Given the description of an element on the screen output the (x, y) to click on. 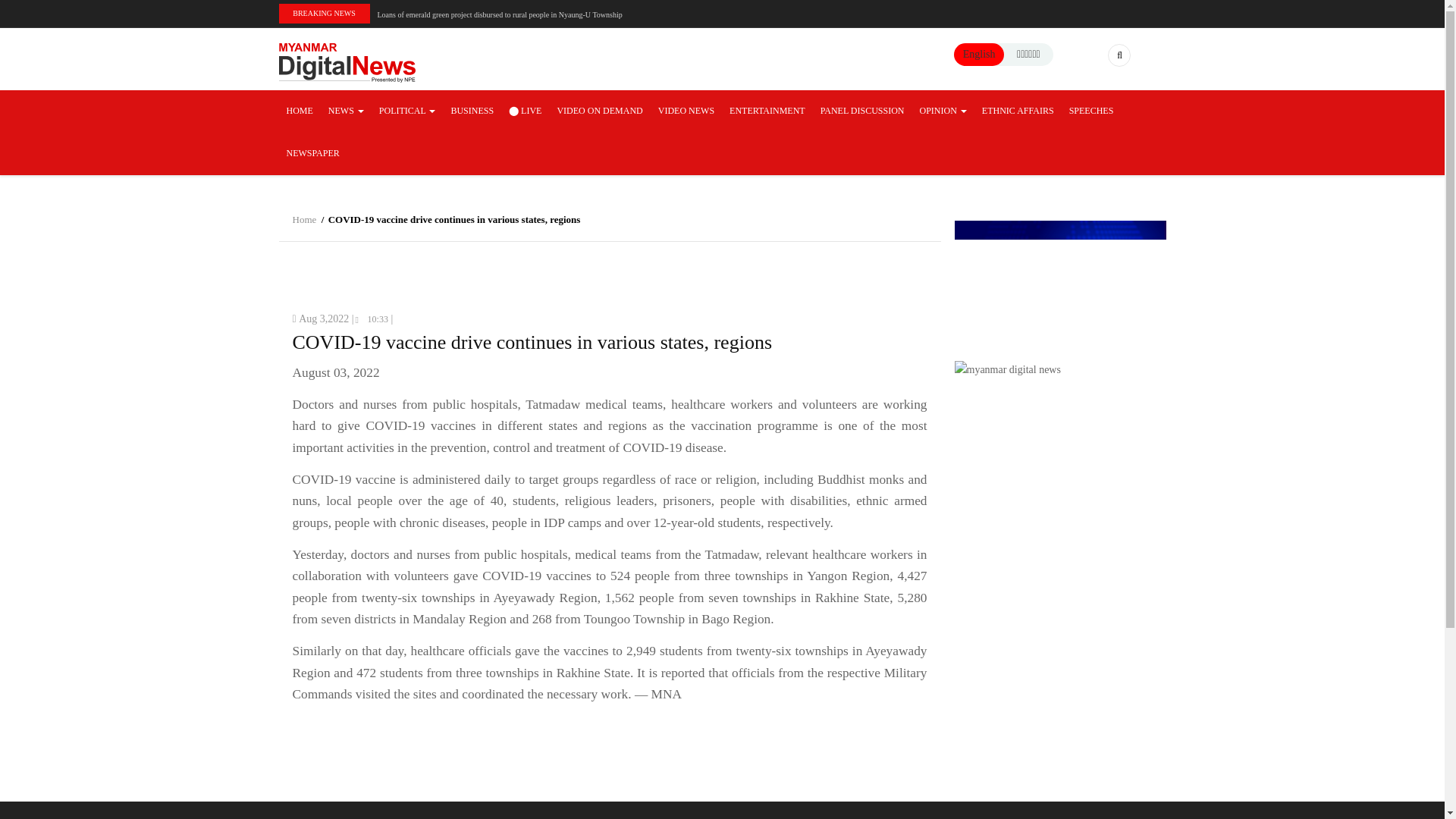
POLITICAL (407, 111)
Home (346, 61)
HOME (299, 111)
English (978, 53)
NEWS (345, 111)
Search (1051, 117)
